Given the description of an element on the screen output the (x, y) to click on. 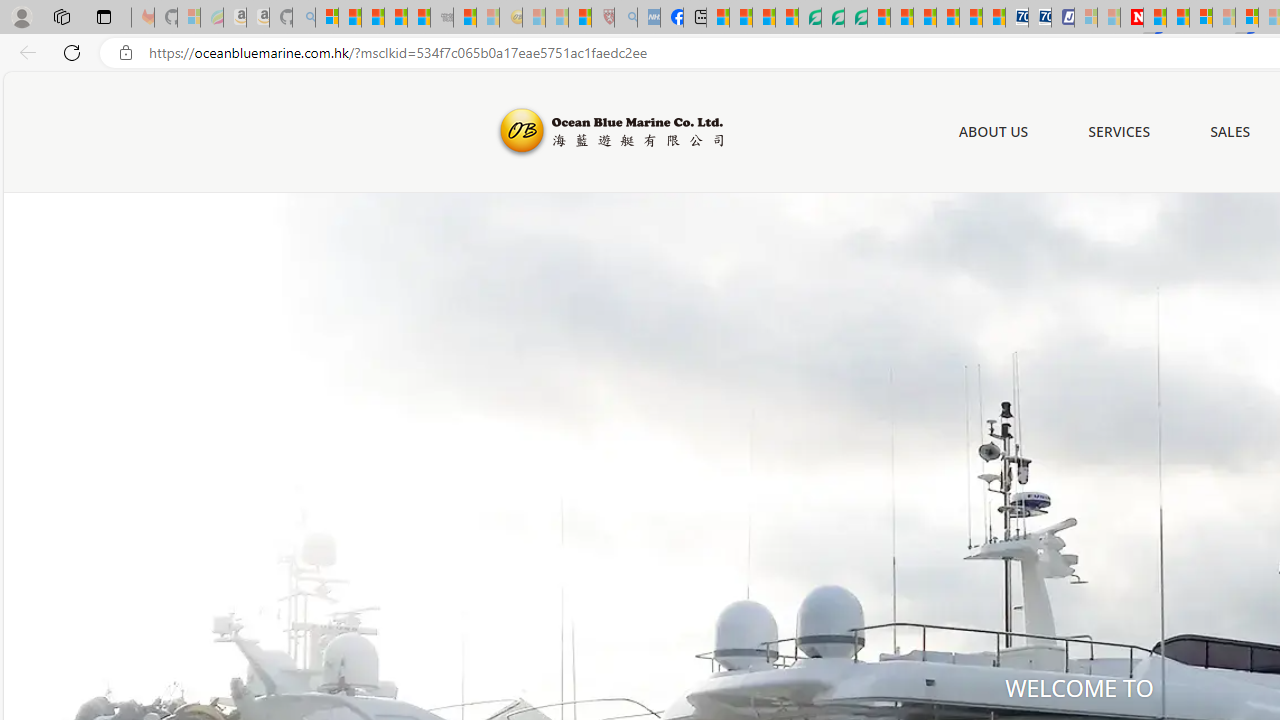
The Weather Channel - MSN (372, 17)
Terms of Use Agreement (832, 17)
ABOUT US (993, 132)
SERVICES (1119, 131)
